Given the description of an element on the screen output the (x, y) to click on. 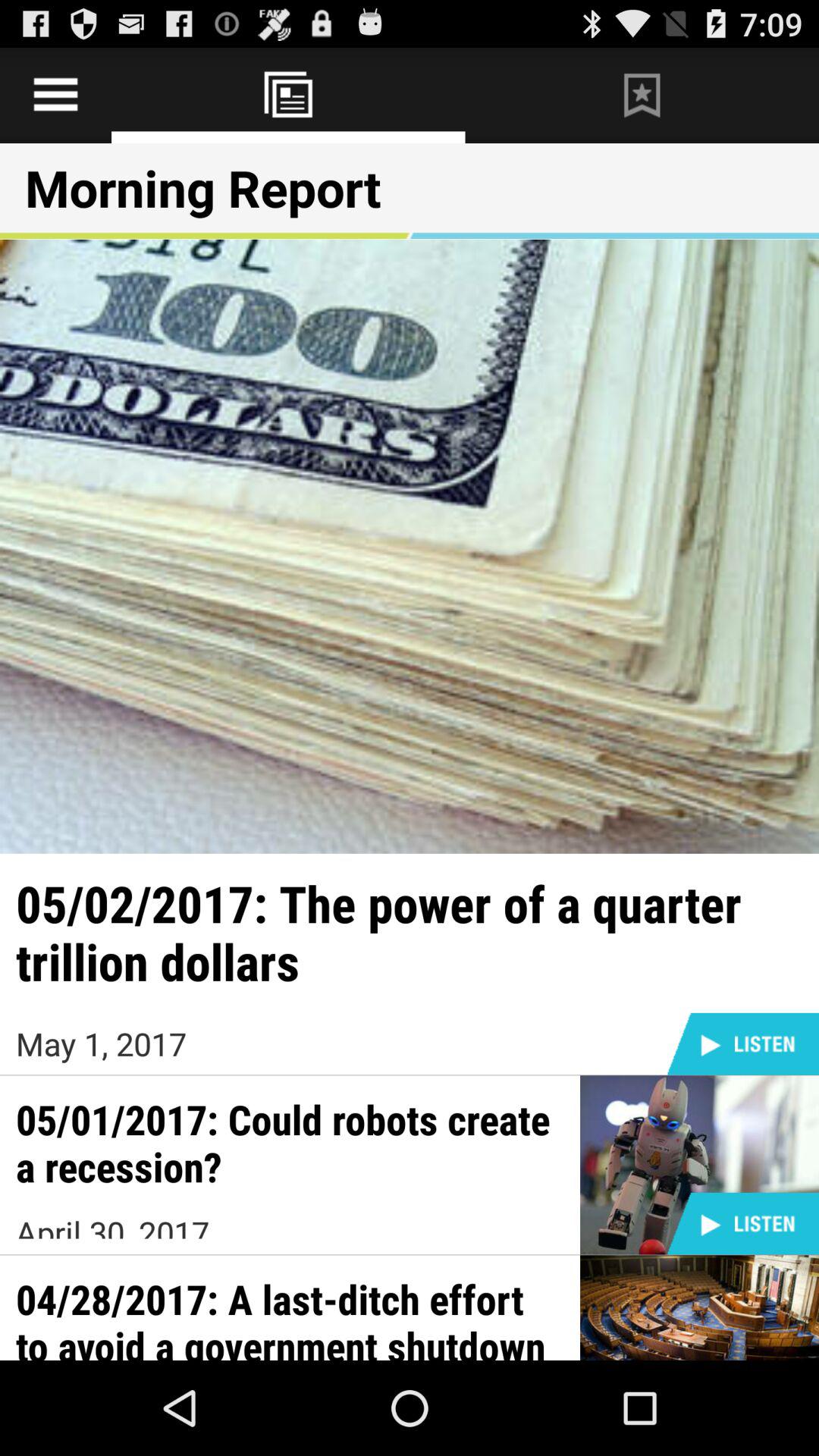
bookmark the page (642, 95)
